Given the description of an element on the screen output the (x, y) to click on. 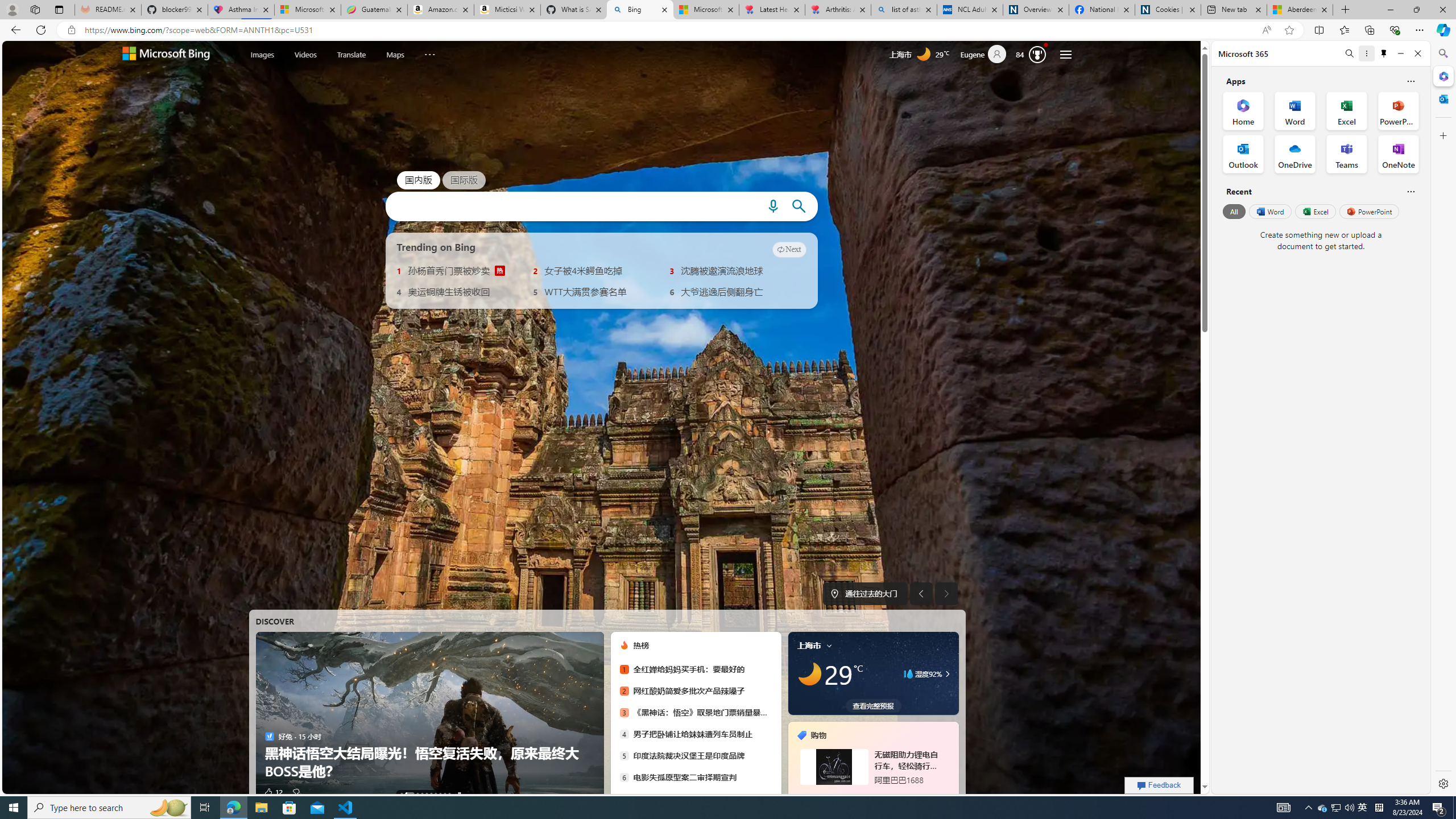
Previous image (921, 593)
AutomationID: tab-5 (431, 793)
Next image (946, 593)
AutomationID: tab-8 (444, 793)
Microsoft Rewards 84 (1033, 54)
AutomationID: tab-7 (440, 793)
tab-2 (872, 795)
